Given the description of an element on the screen output the (x, y) to click on. 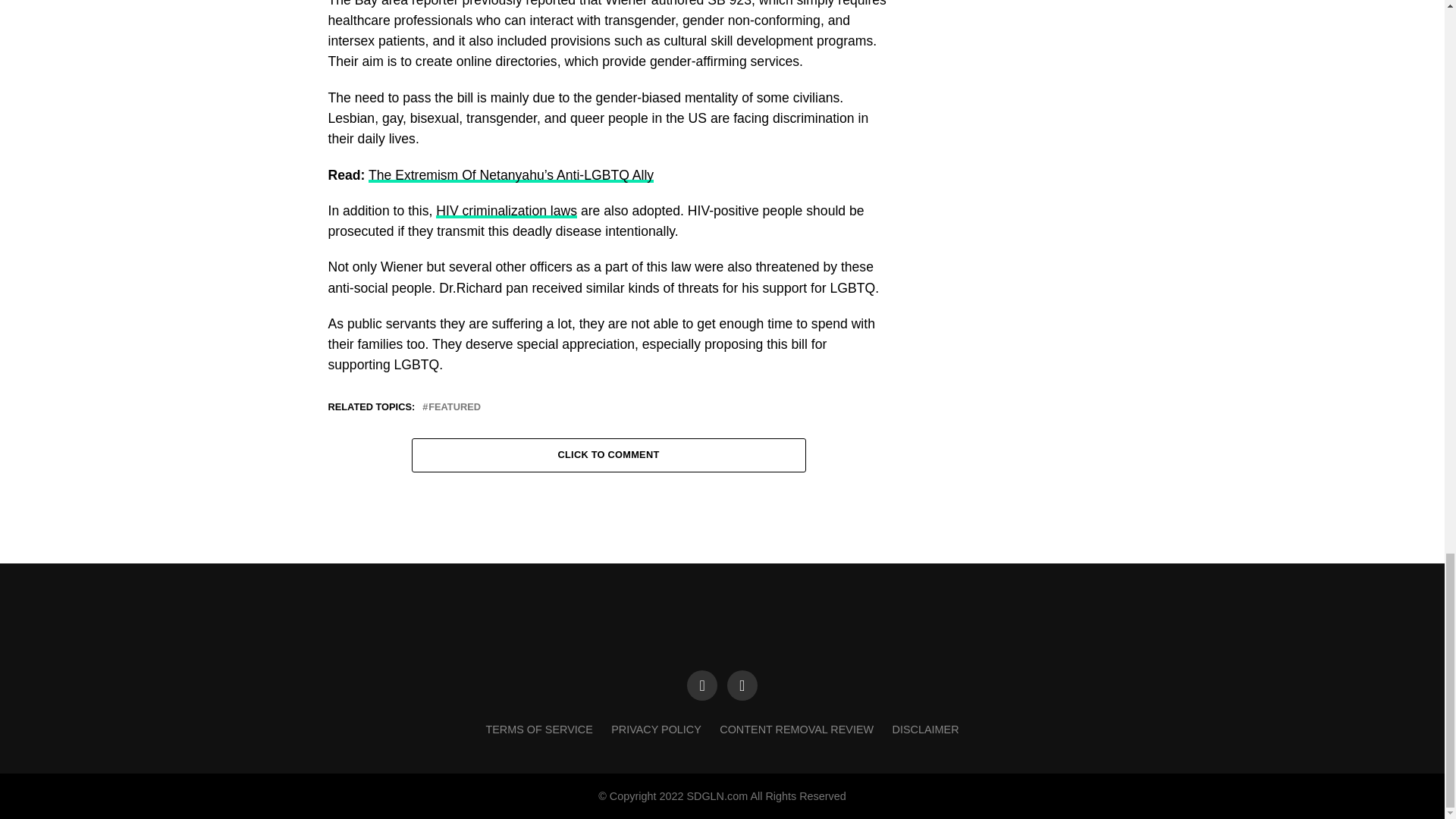
HIV criminalization laws (505, 210)
DISCLAIMER (925, 729)
TERMS OF SERVICE (538, 729)
FEATURED (454, 407)
PRIVACY POLICY (656, 729)
CONTENT REMOVAL REVIEW (796, 729)
